Given the description of an element on the screen output the (x, y) to click on. 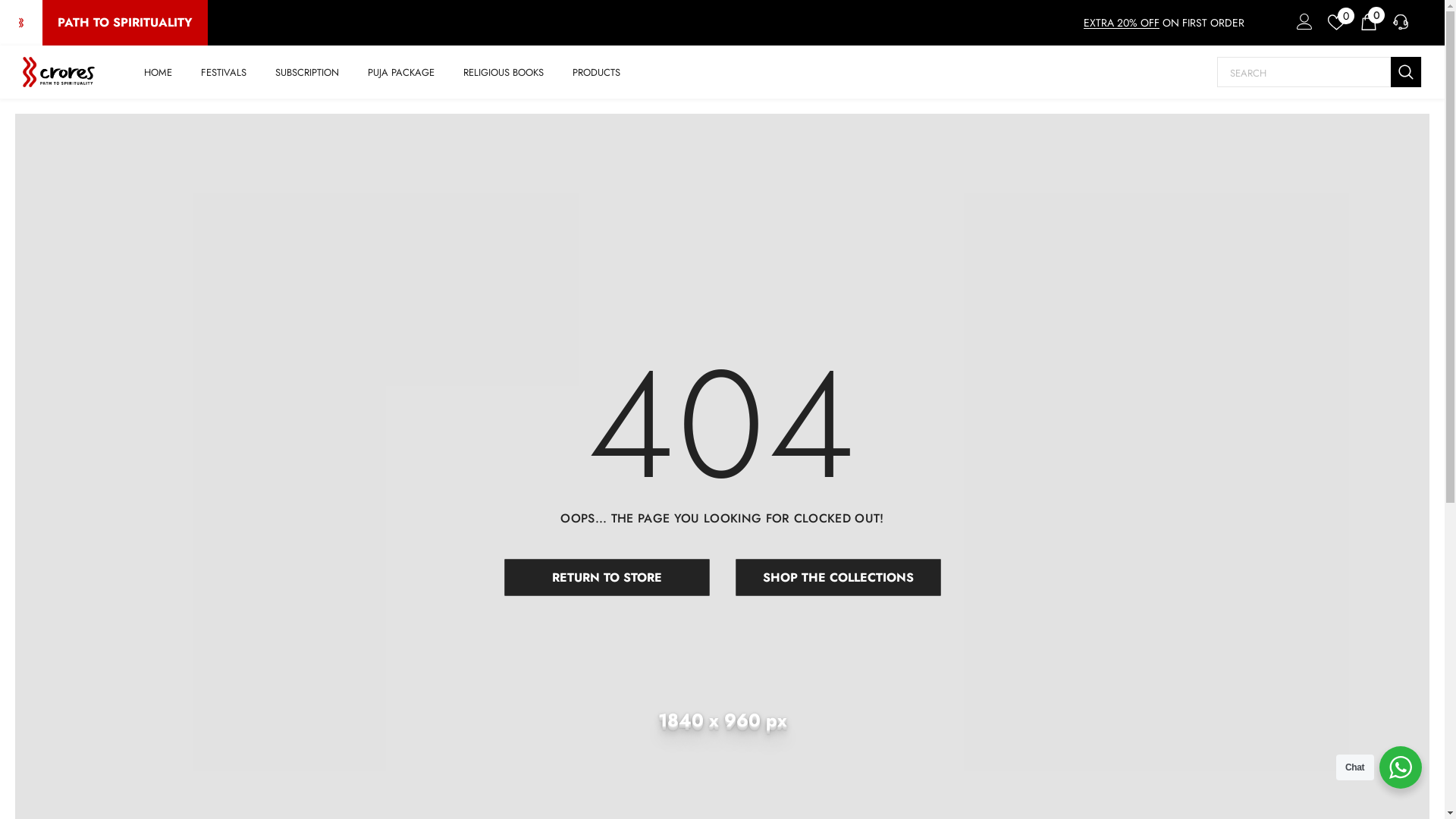
SUBSCRIPTION Element type: text (306, 71)
PUJA PACKAGE Element type: text (400, 71)
0 Element type: text (1368, 24)
0 Element type: text (1336, 23)
HOME Element type: text (157, 71)
RETURN TO STORE Element type: text (606, 577)
FESTIVALS Element type: text (223, 71)
PATH TO SPIRITUALITY Element type: text (124, 22)
EXTRA 20% OFF Element type: text (1121, 22)
PRODUCTS Element type: text (596, 71)
SHOP THE COLLECTIONS Element type: text (837, 577)
RELIGIOUS BOOKS Element type: text (503, 71)
Logo Element type: hover (58, 71)
Login user Element type: text (1301, 25)
